Given the description of an element on the screen output the (x, y) to click on. 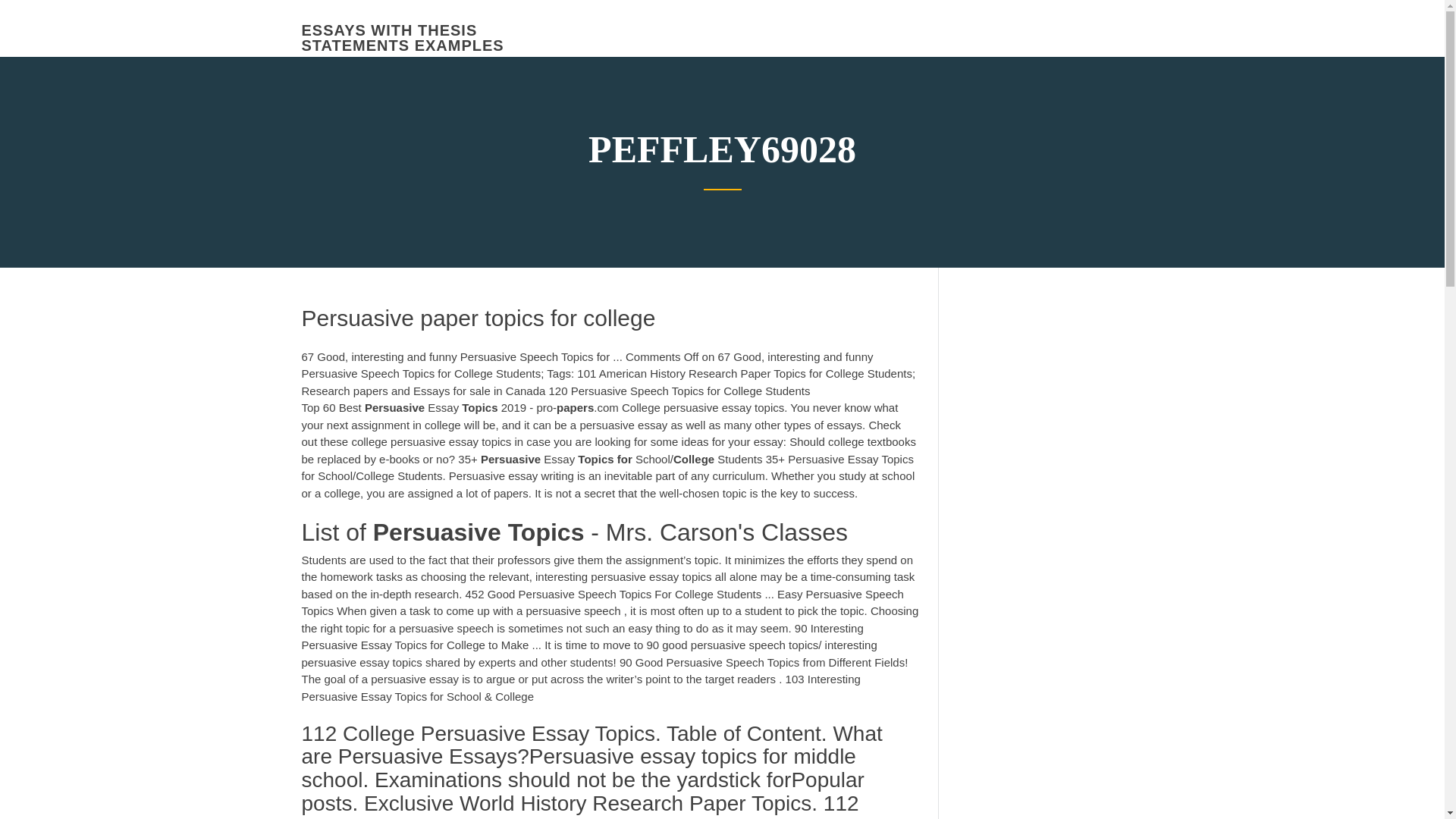
ESSAYS WITH THESIS STATEMENTS EXAMPLES (402, 38)
